Given the description of an element on the screen output the (x, y) to click on. 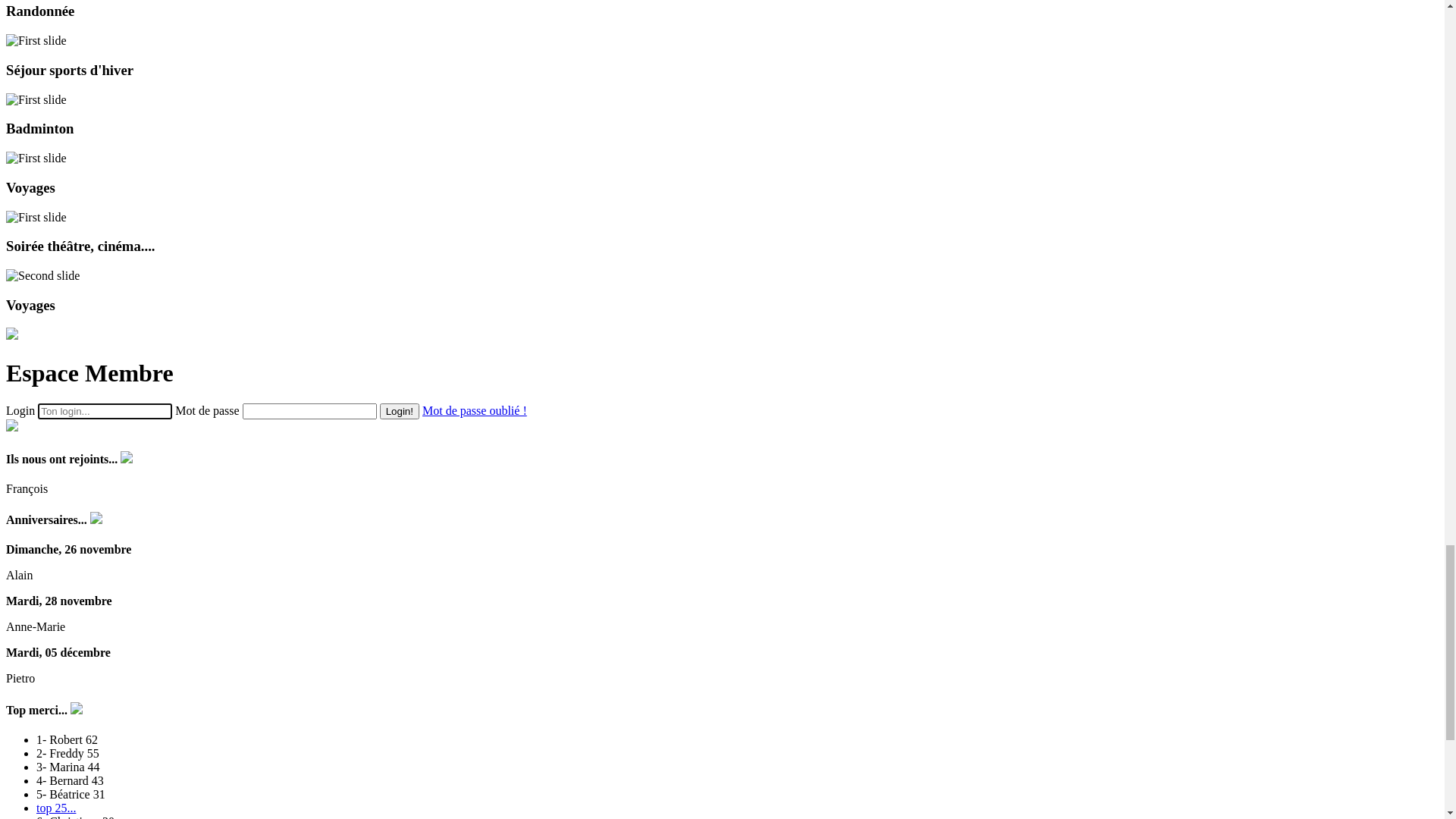
Accueil
(actuel) Element type: text (55, 51)
Qui sommes-nous?
(actuel) Element type: text (82, 65)
Devenir membre
(actuel) Element type: text (77, 78)
Espace membre
(actuel) Element type: text (74, 118)
Amisphere Element type: text (34, 12)
Info & Last Minute
(actuel) Element type: text (83, 37)
